Given the description of an element on the screen output the (x, y) to click on. 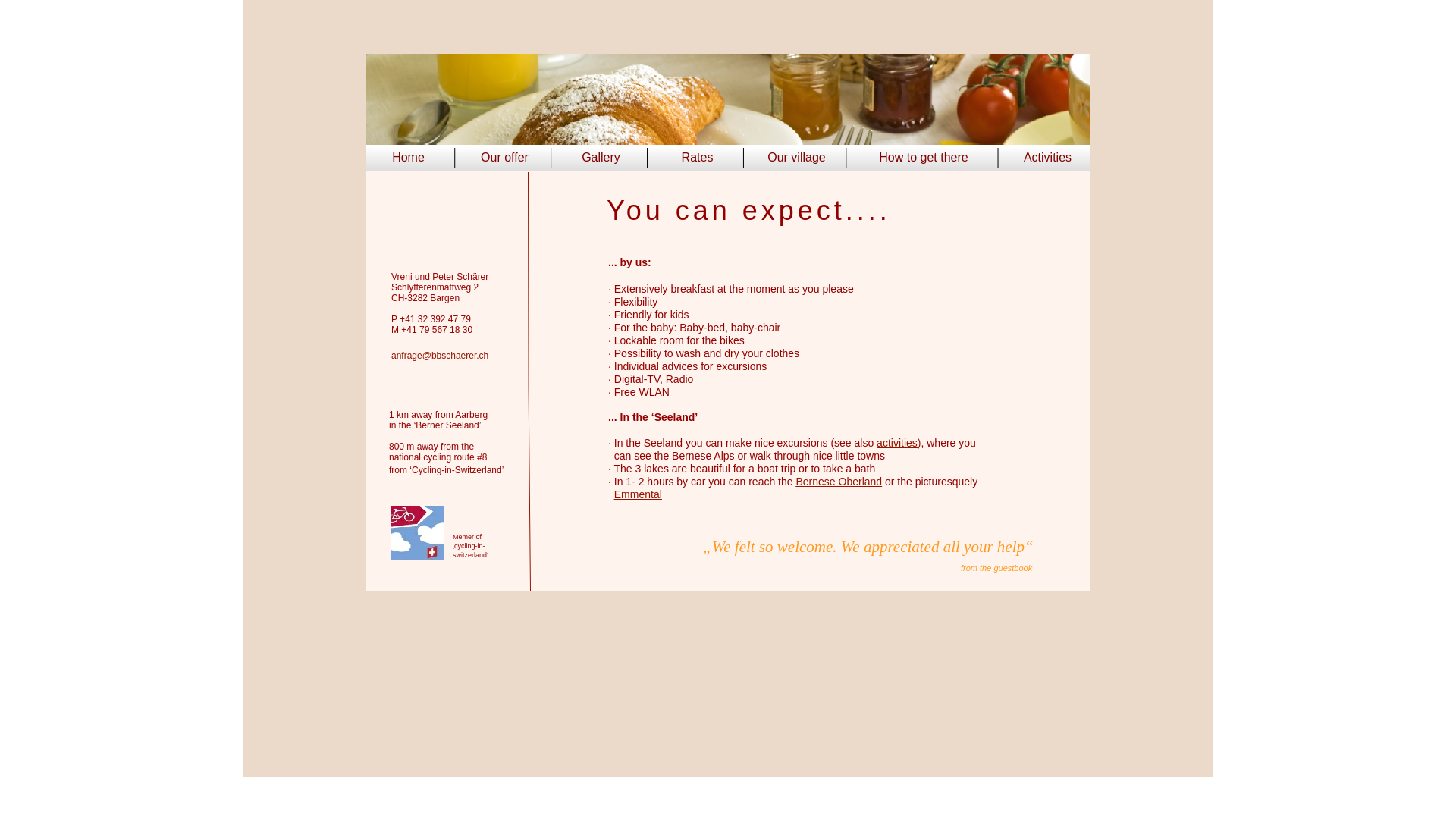
Bernese Oberland Element type: text (838, 481)
Activities Element type: text (1047, 158)
Gallery Element type: text (600, 158)
Our offer Element type: text (504, 158)
activities Element type: text (896, 442)
How to get there Element type: text (923, 158)
) Element type: text (919, 442)
anfrage@bbschaerer.ch Element type: text (439, 355)
Rates Element type: text (697, 158)
Our village Element type: text (796, 158)
Emmental Element type: text (638, 494)
  Element type: text (609, 507)
Home Element type: text (408, 158)
